Given the description of an element on the screen output the (x, y) to click on. 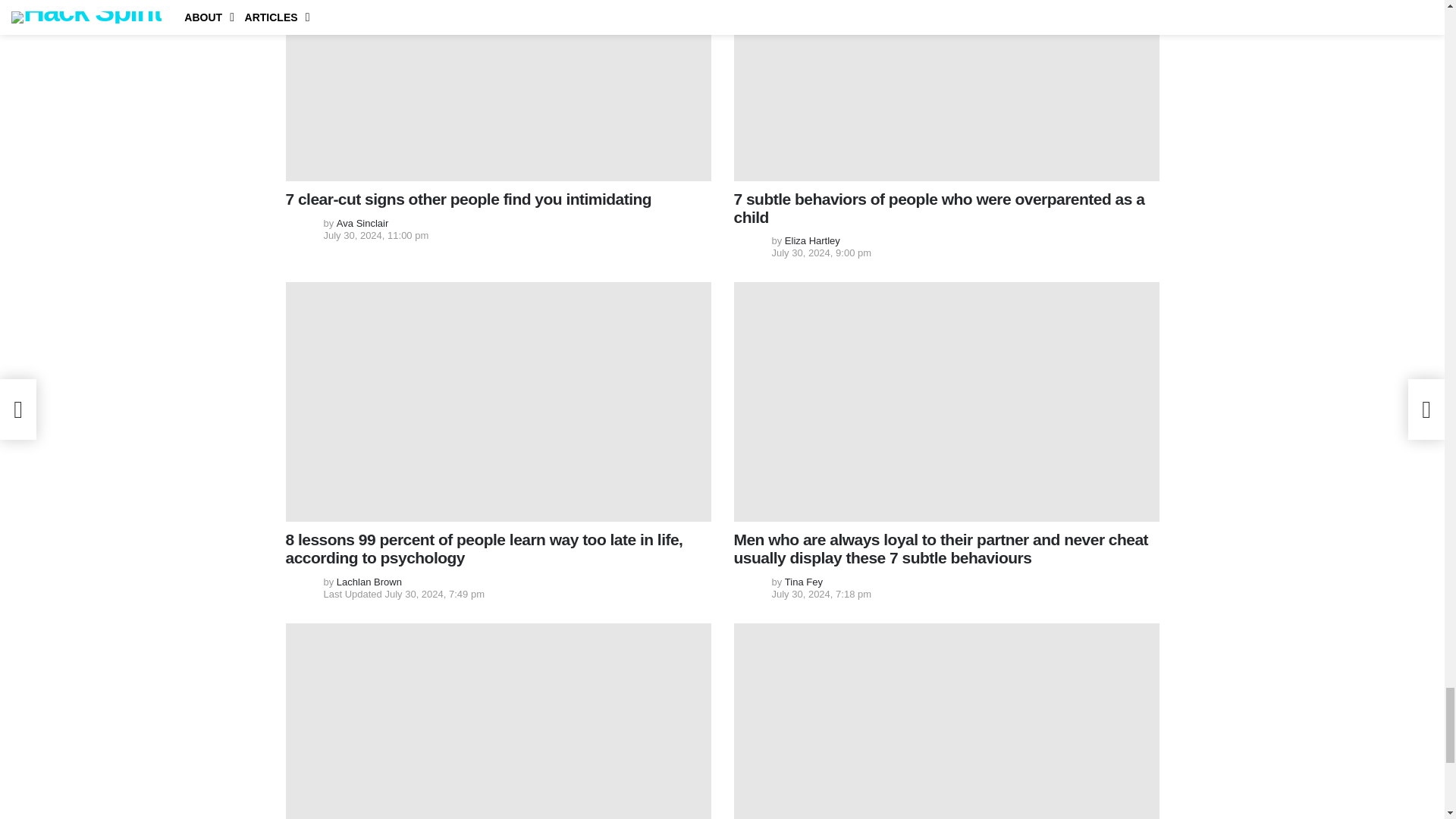
Posts by Lachlan Brown (368, 582)
Posts by Tina Fey (803, 582)
7 clear-cut signs other people find you intimidating (497, 90)
Posts by Ava Sinclair (362, 223)
Posts by Eliza Hartley (812, 240)
